Given the description of an element on the screen output the (x, y) to click on. 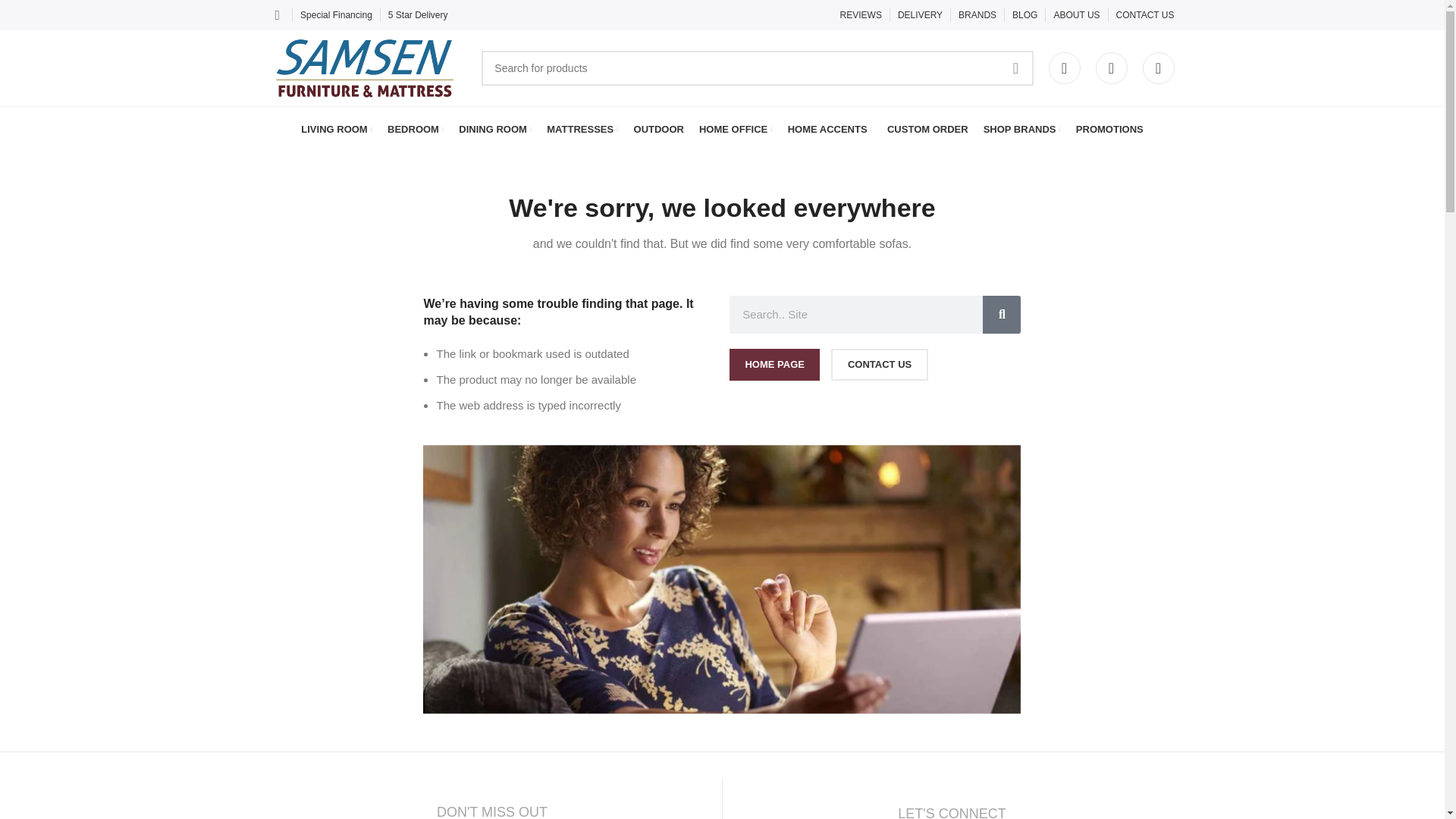
DELIVERY (920, 15)
Special Financing (335, 14)
Search for products (756, 67)
Compare products (1110, 68)
CONTACT US (1145, 15)
My account (1064, 68)
LIVING ROOM (336, 129)
Log in (954, 313)
REVIEWS (861, 15)
SEARCH (1014, 67)
5 Star Delivery  (418, 14)
BEDROOM (415, 129)
ABOUT US (1075, 15)
My Wishlist (1157, 68)
